Given the description of an element on the screen output the (x, y) to click on. 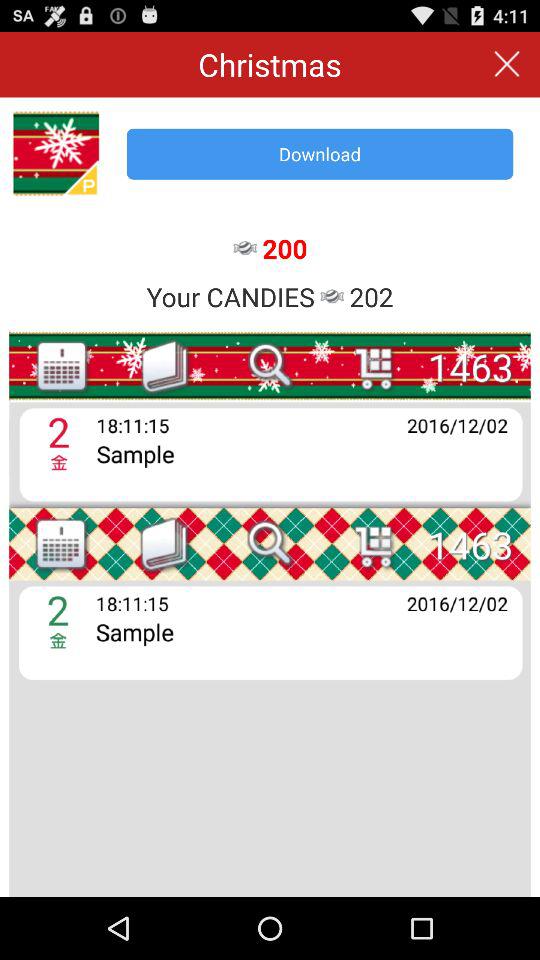
close (506, 64)
